Given the description of an element on the screen output the (x, y) to click on. 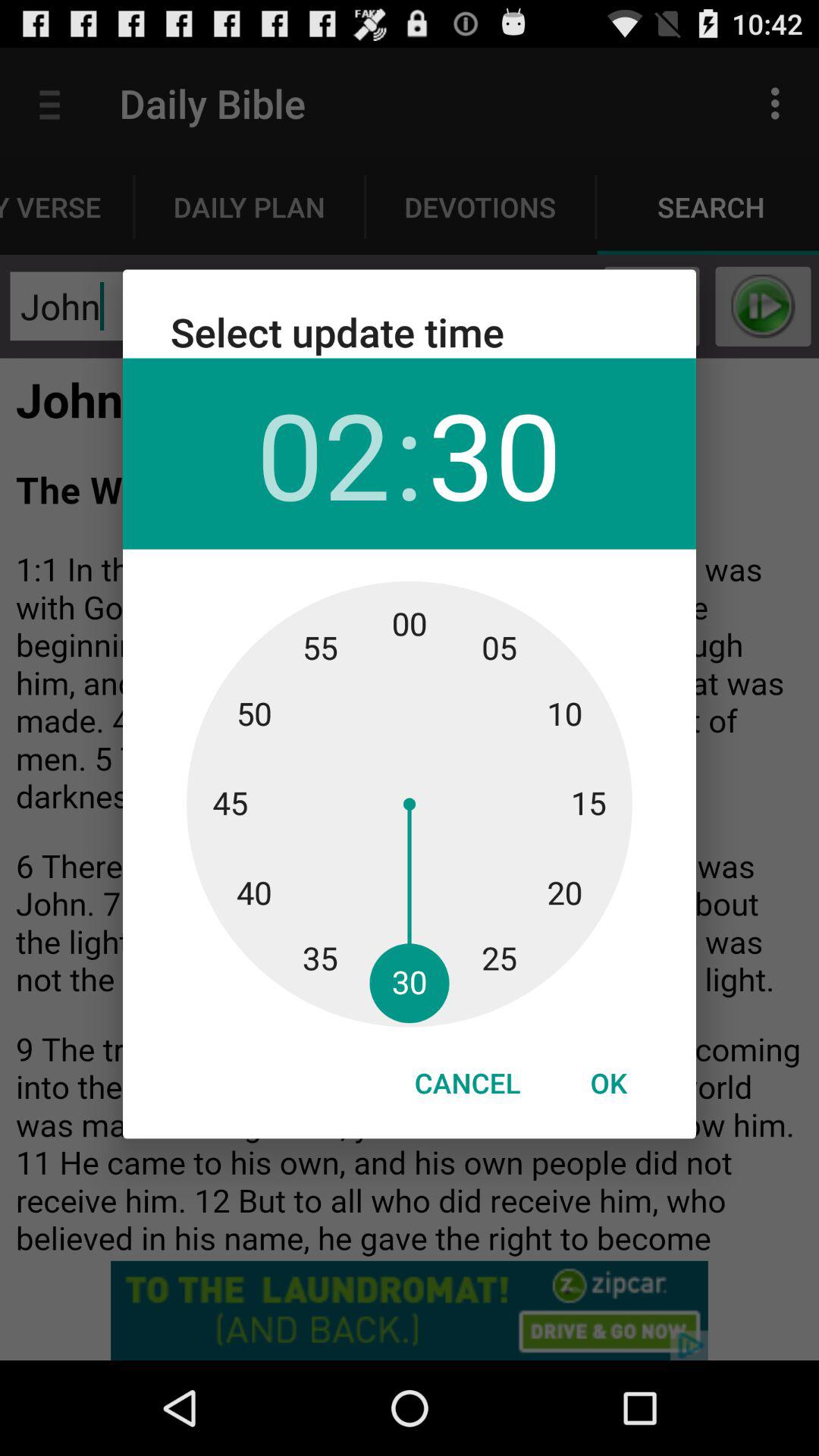
turn on cancel at the bottom (467, 1082)
